Given the description of an element on the screen output the (x, y) to click on. 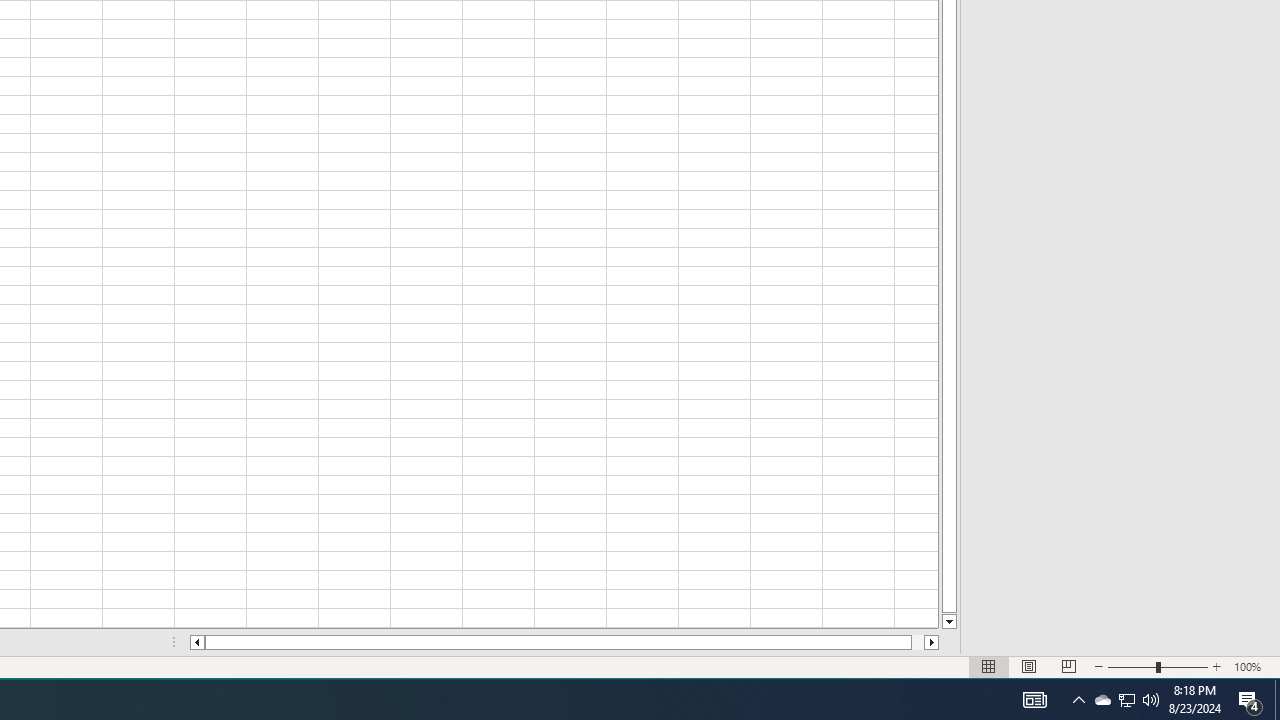
Notification Chevron (1102, 699)
AutomationID: 4105 (1078, 699)
Show desktop (1034, 699)
User Promoted Notification Area (1277, 699)
Q2790: 100% (1126, 699)
